Given the description of an element on the screen output the (x, y) to click on. 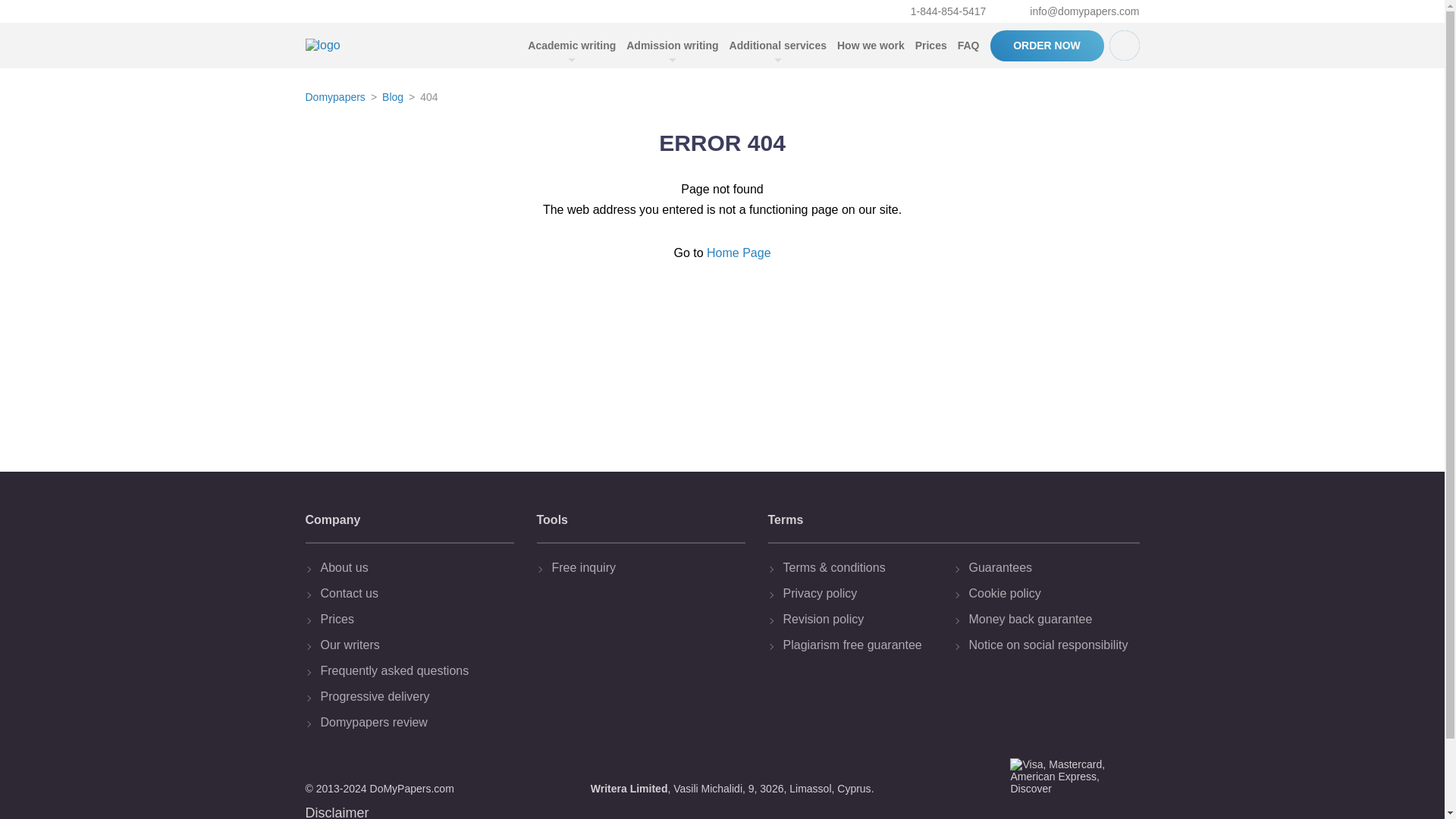
Blog (392, 96)
Domypapers (334, 96)
Free Inquiry (644, 567)
Home Page (738, 252)
Revision Police (863, 619)
MANAGE ORDERS (1123, 45)
How we work (870, 44)
Prices (412, 619)
Frequently asked questions (412, 671)
Notice on social responsibility (1050, 644)
Domypapers review (412, 722)
Cookie Policy (1050, 593)
About Us (412, 567)
About us (412, 567)
Our writers (412, 644)
